Given the description of an element on the screen output the (x, y) to click on. 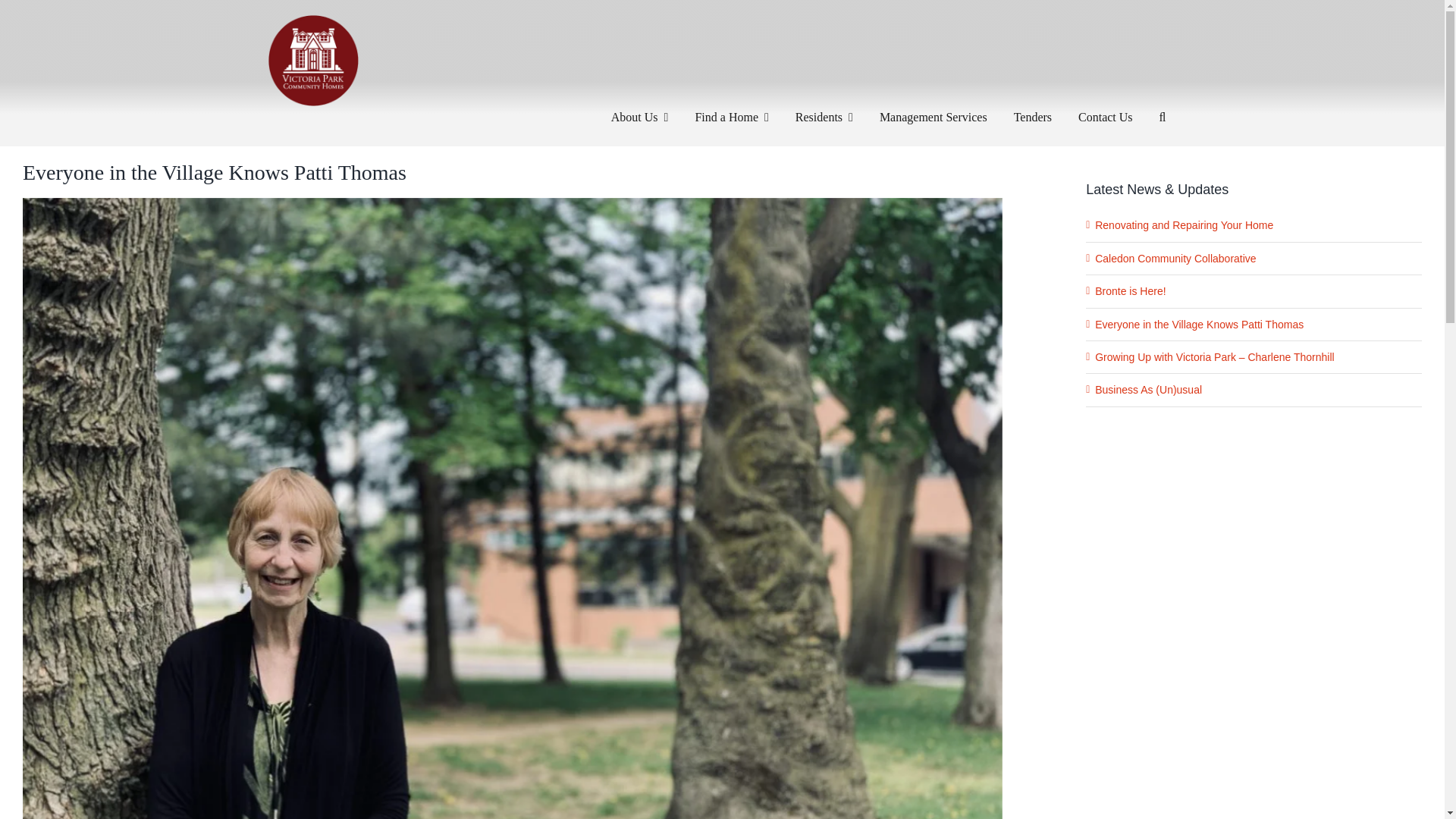
Find a Home (730, 107)
Contact Us (1105, 107)
Management Services (932, 107)
Residents (824, 107)
About Us (639, 107)
